Given the description of an element on the screen output the (x, y) to click on. 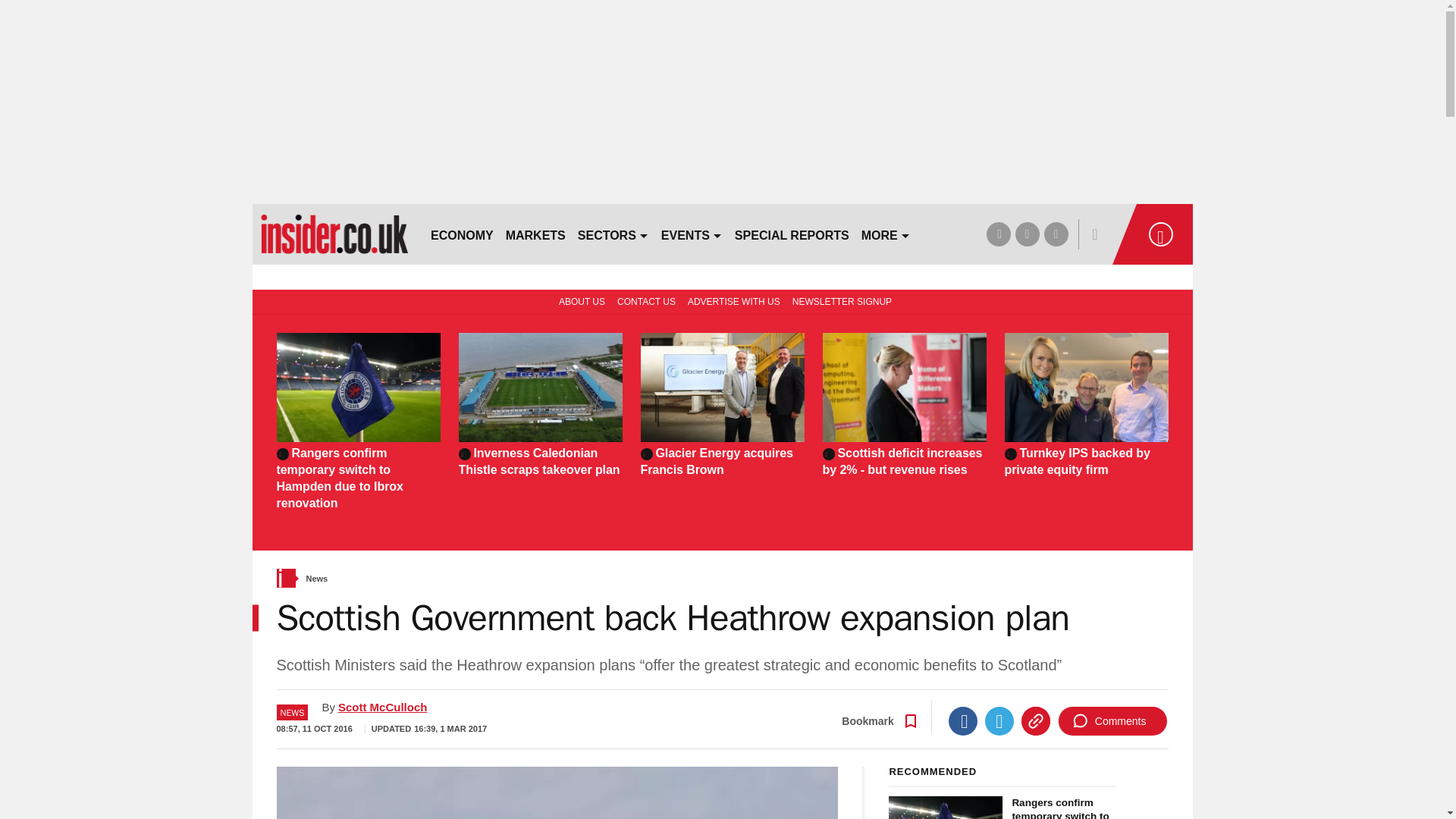
Facebook (962, 720)
ADVERTISE WITH US (733, 300)
ABOUT US (579, 300)
MARKETS (535, 233)
ECONOMY (462, 233)
twitter (1026, 233)
SPECIAL REPORTS (792, 233)
Glacier Energy acquires Francis Brown (721, 461)
MORE (886, 233)
SECTORS (613, 233)
